Given the description of an element on the screen output the (x, y) to click on. 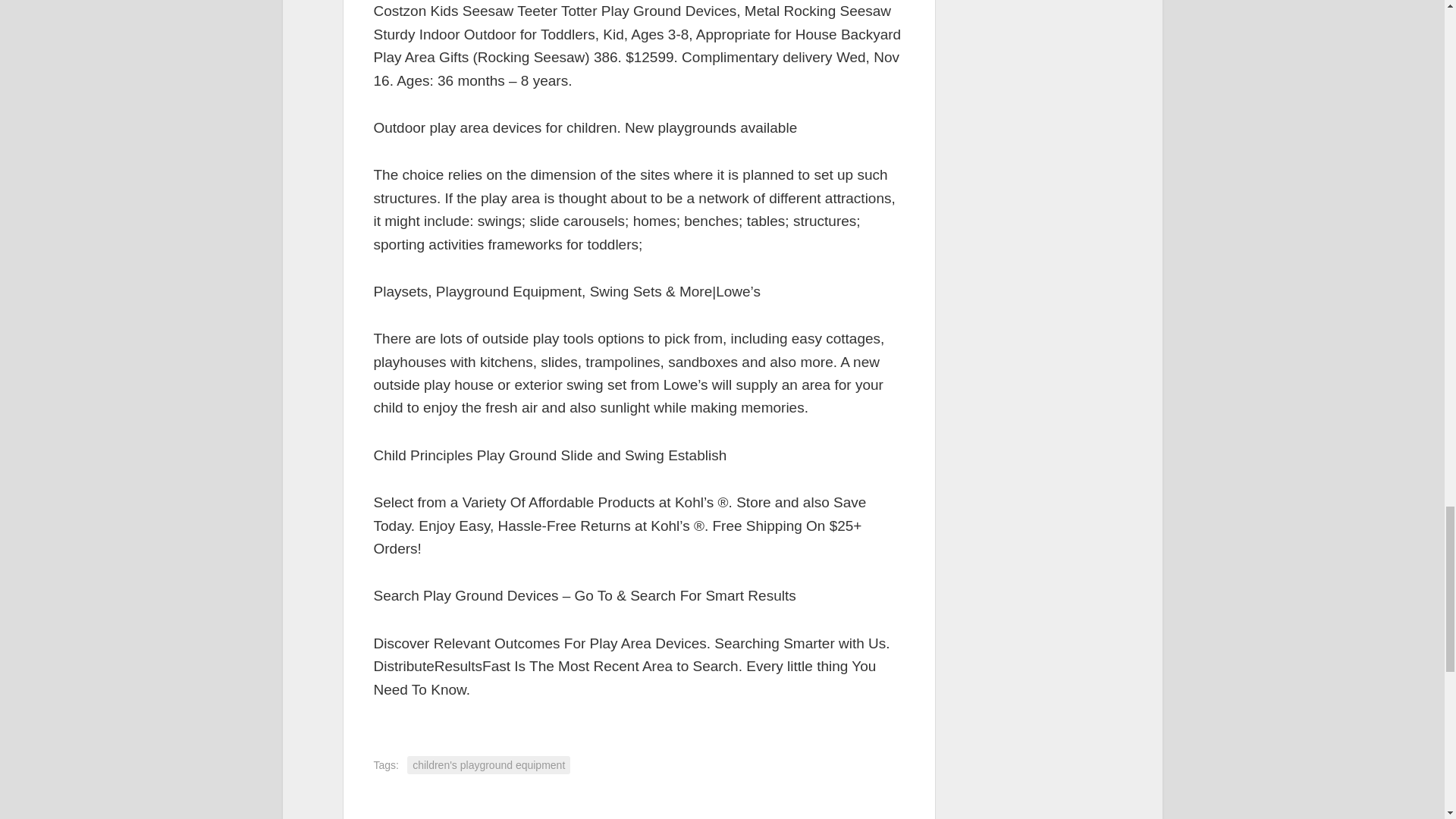
children's playground equipment (488, 764)
